Given the description of an element on the screen output the (x, y) to click on. 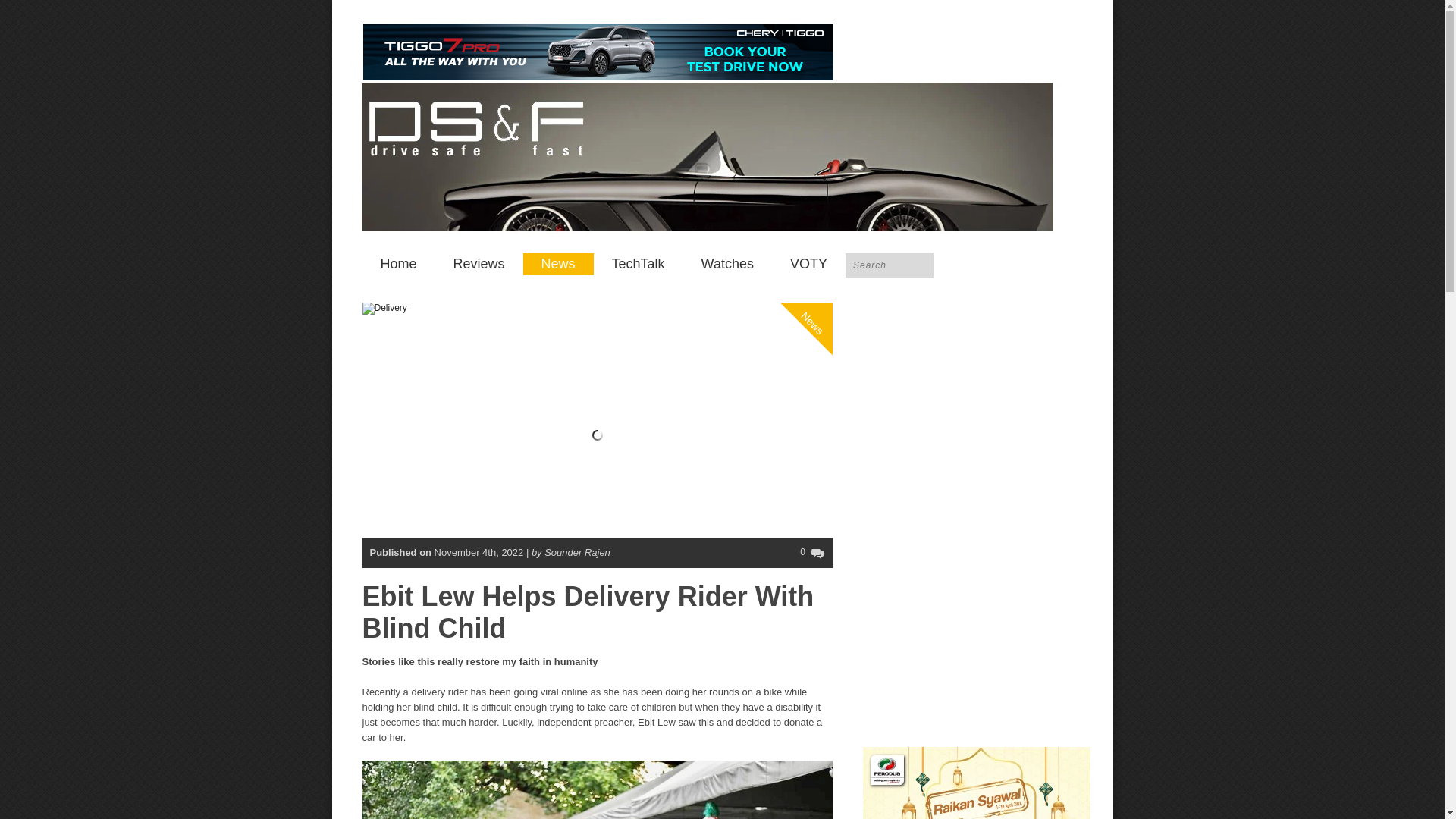
Reviews (478, 264)
Watches (726, 264)
News (558, 264)
VOTY (808, 264)
News (828, 260)
Home (398, 264)
TechTalk (638, 264)
